Given the description of an element on the screen output the (x, y) to click on. 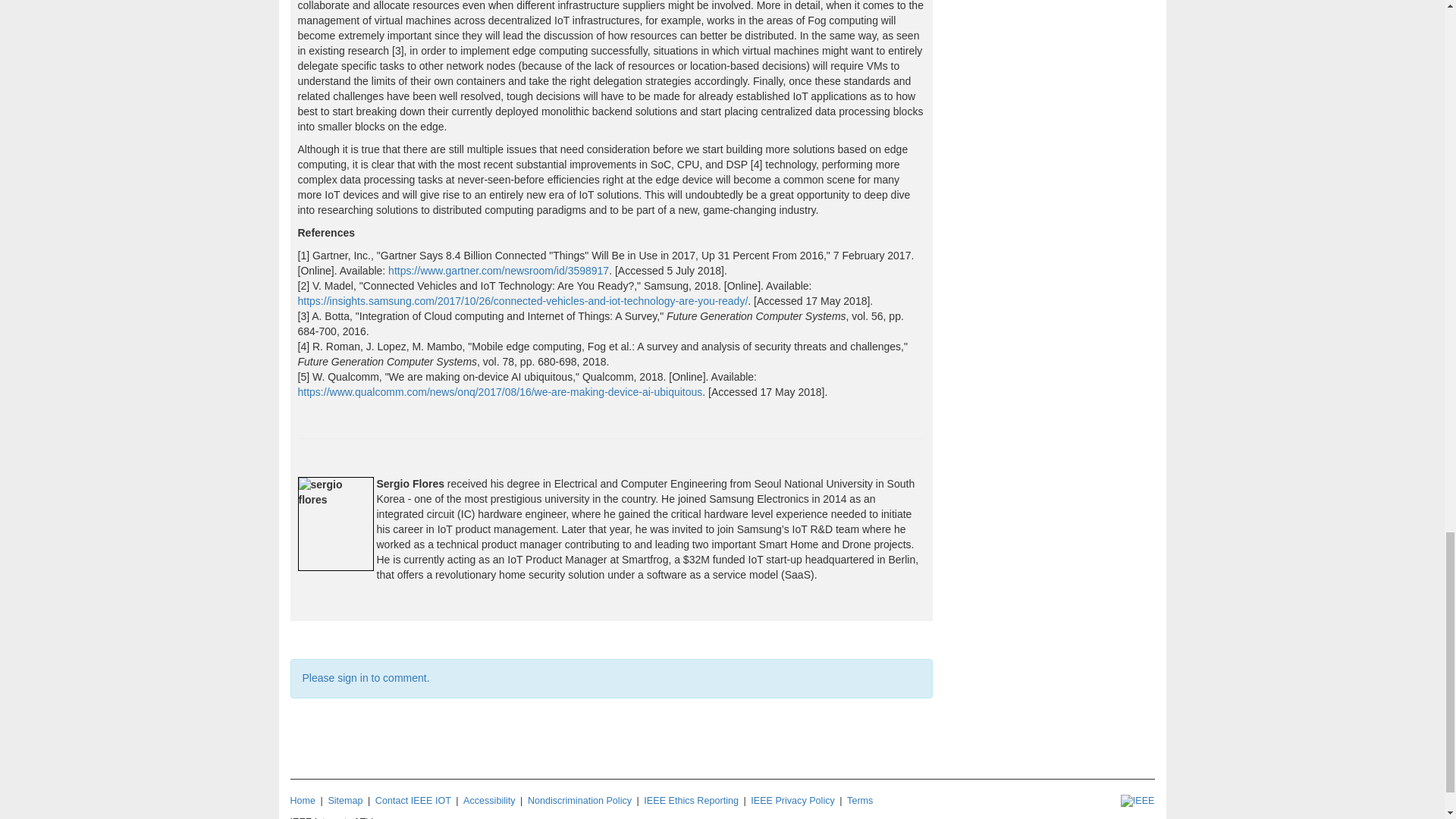
Home (302, 800)
Sign in to comment (365, 677)
Contact IEEE IOT (413, 800)
Sitemap (344, 800)
